Given the description of an element on the screen output the (x, y) to click on. 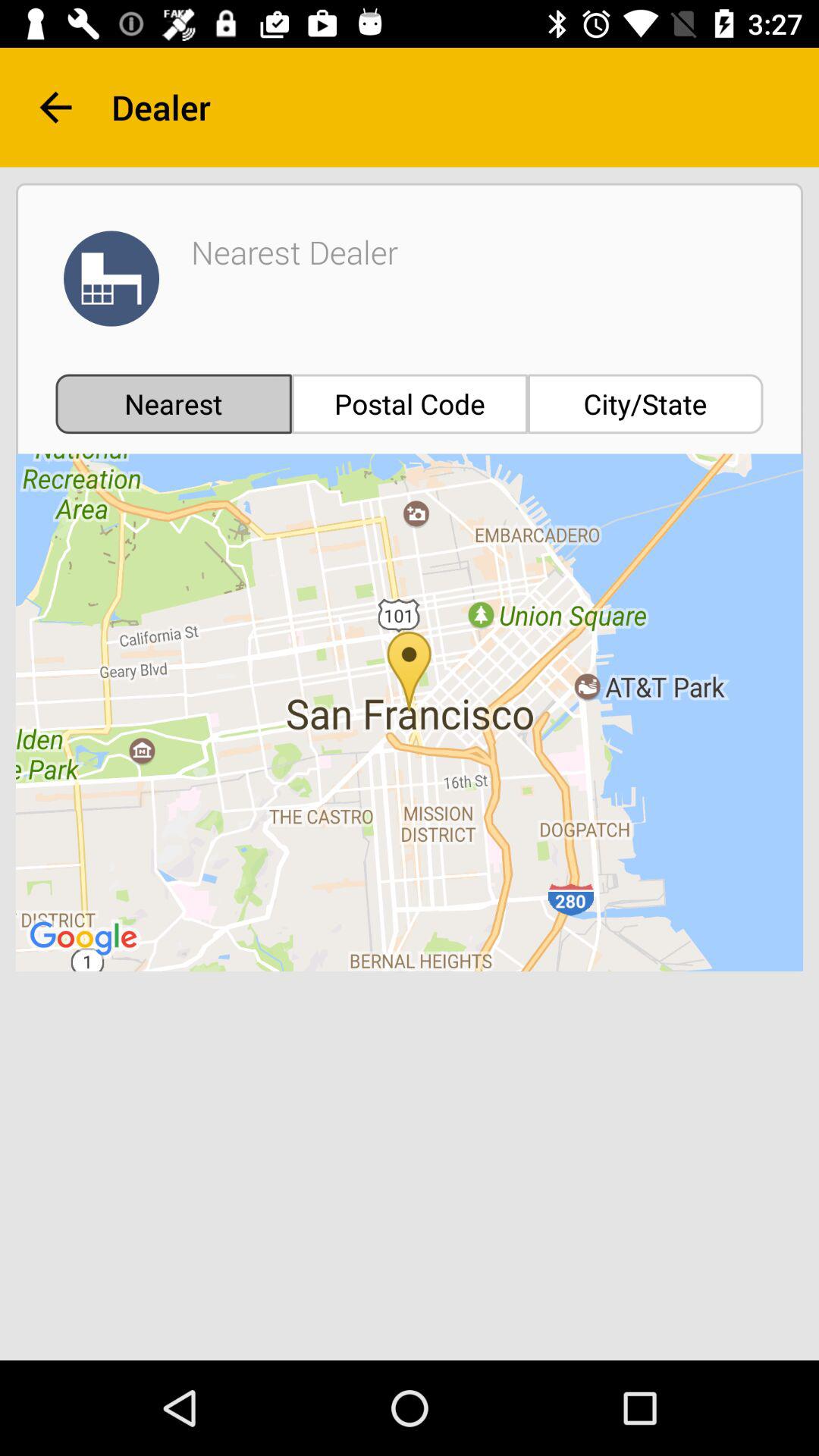
turn on item next to dealer item (55, 107)
